Given the description of an element on the screen output the (x, y) to click on. 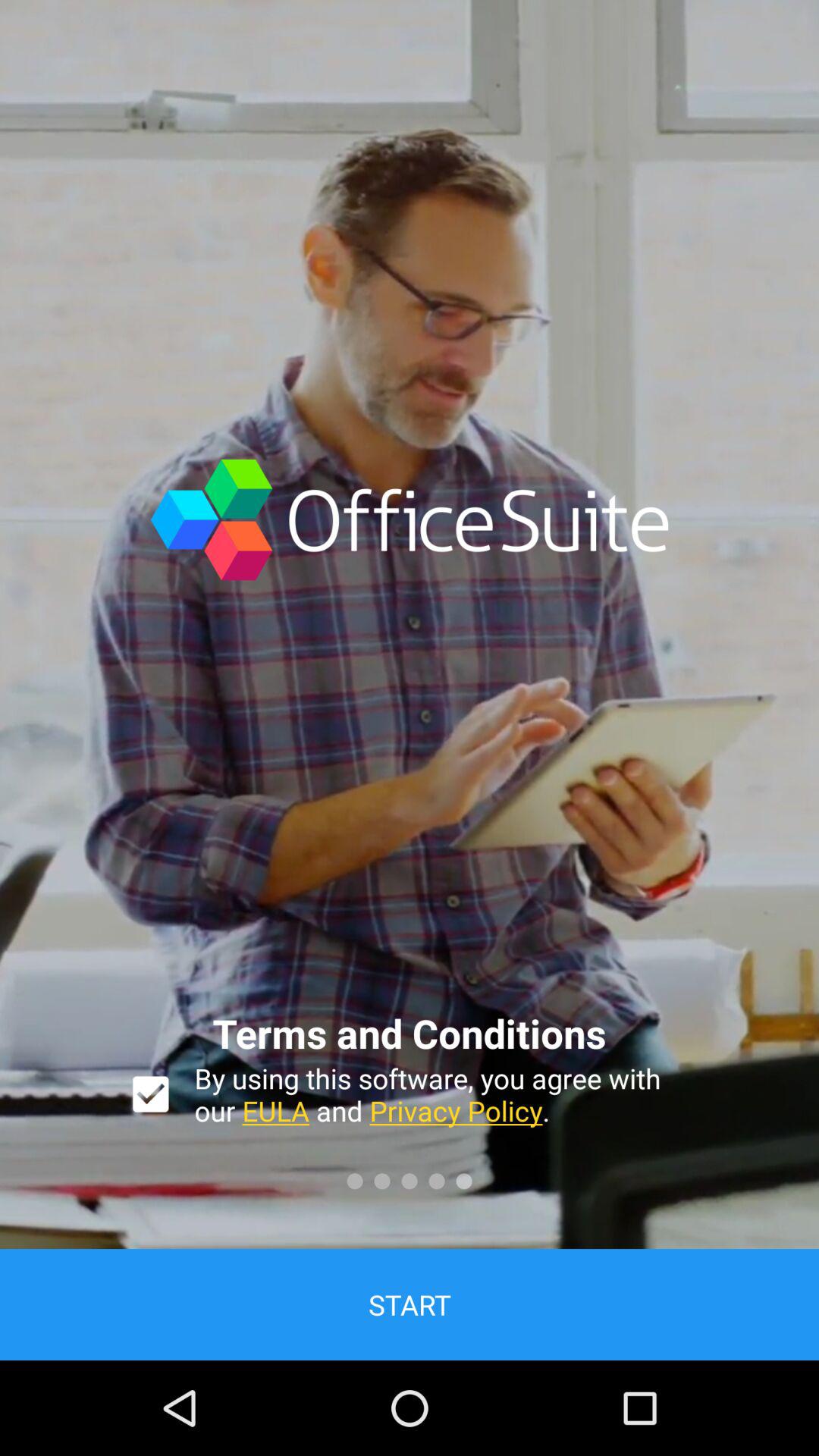
toggle box (150, 1094)
